Given the description of an element on the screen output the (x, y) to click on. 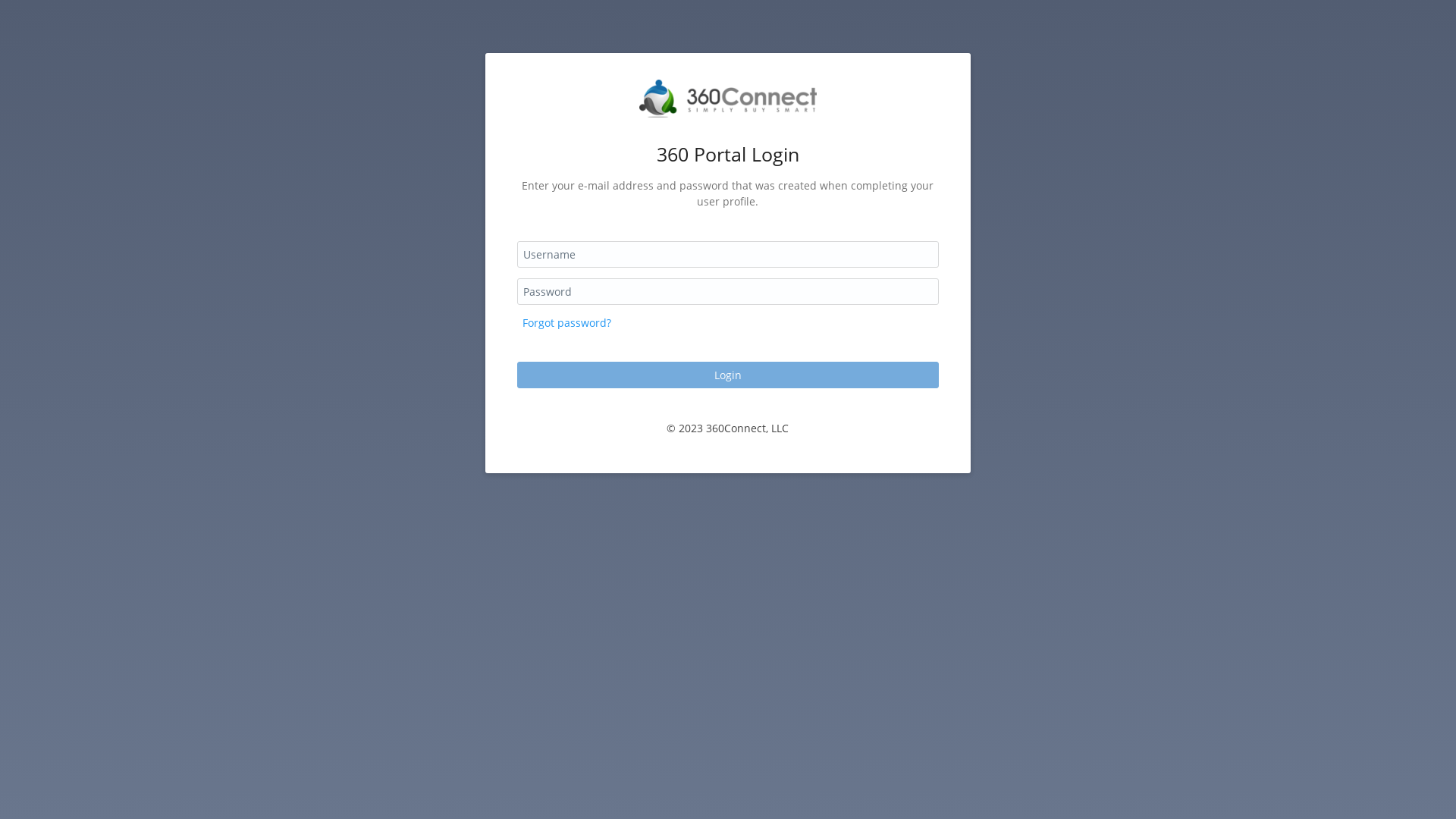
Forgot password? Element type: text (566, 322)
Login Element type: text (727, 374)
